Given the description of an element on the screen output the (x, y) to click on. 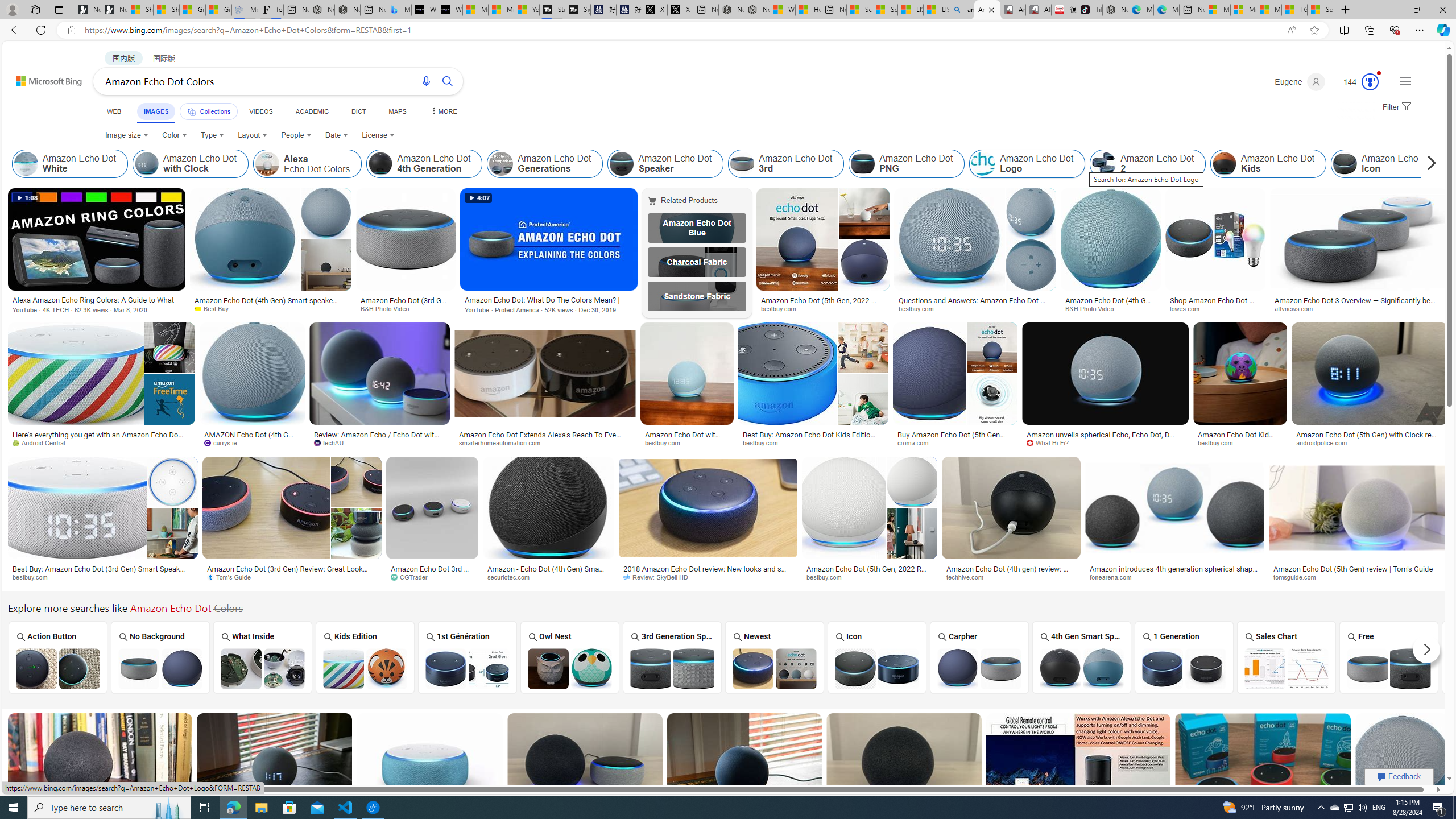
Microsoft Start Sports (475, 9)
B&H Photo Video (1110, 308)
Date (336, 135)
DICT (357, 111)
Amazon Echo Dot (5th Gen) review | Tom's Guide (1353, 568)
Amazon Echo Dot Icon (876, 668)
Free Amazon Echo Dot (1387, 668)
Layout (252, 135)
Nordace - #1 Japanese Best-Seller - Siena Smart Backpack (347, 9)
